Given the description of an element on the screen output the (x, y) to click on. 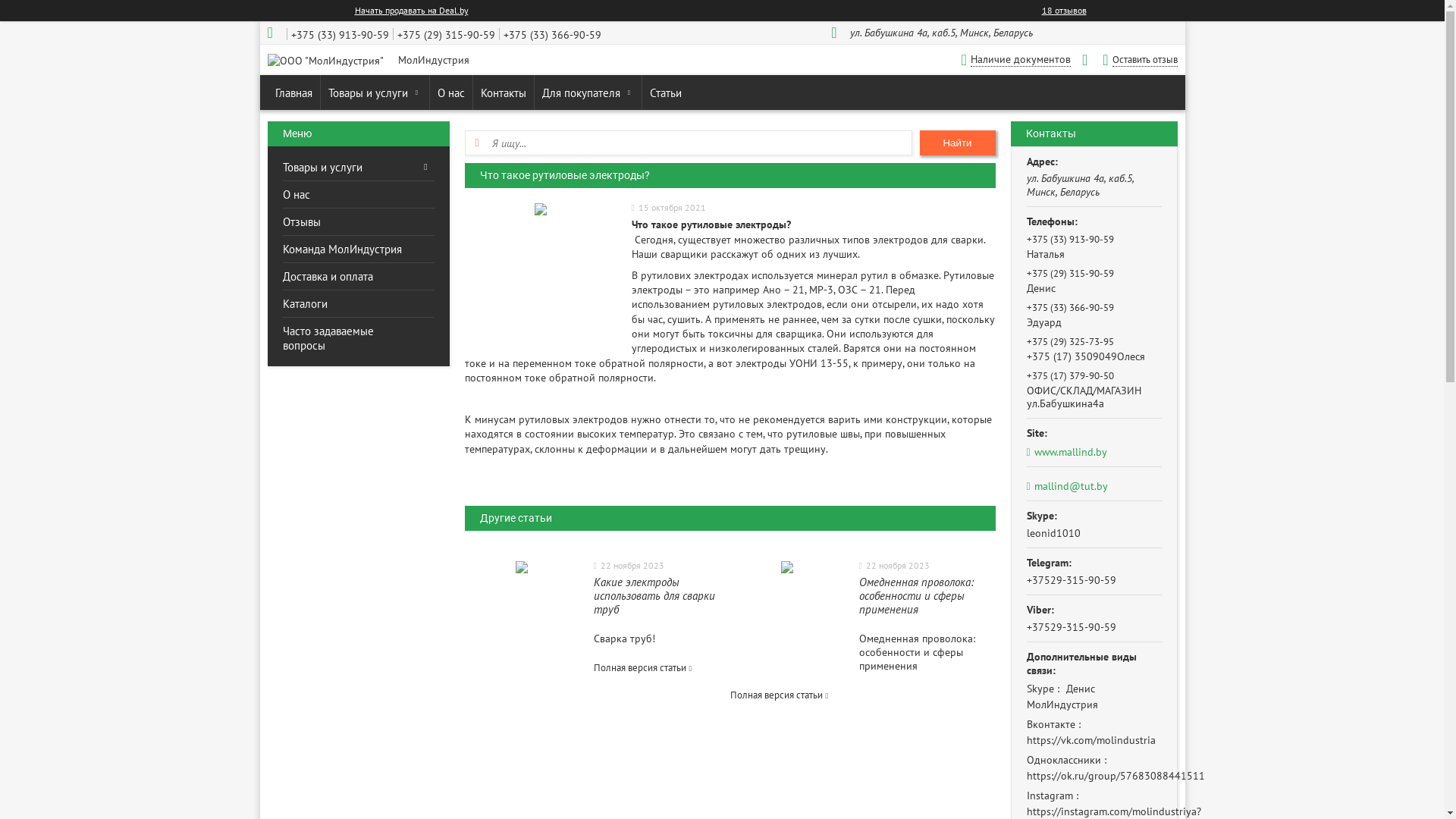
mallind@tut.by Element type: text (1066, 485)
https://vk.com/molindustria Element type: text (1090, 739)
www.mallind.by Element type: text (1093, 451)
https://ok.ru/group/57683088441511 Element type: text (1115, 775)
